Given the description of an element on the screen output the (x, y) to click on. 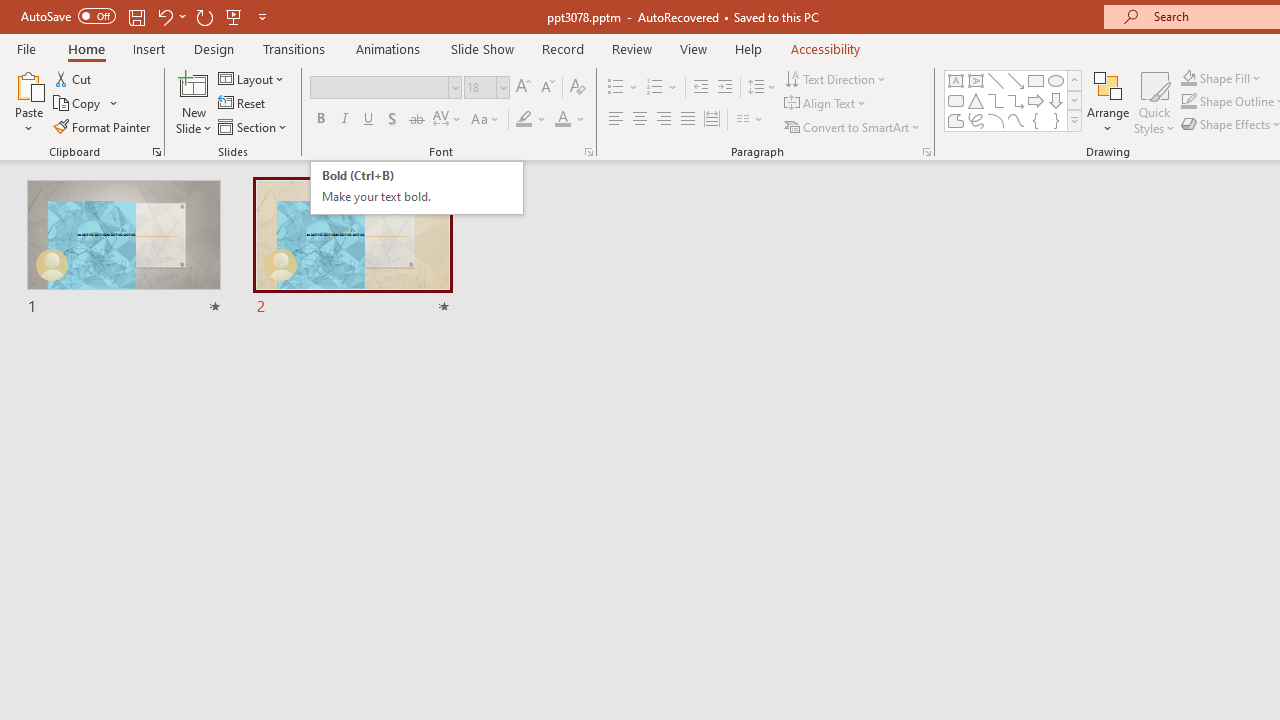
Rectangle: Rounded Corners (955, 100)
Justify (687, 119)
Oval (1055, 80)
Shape Outline Green, Accent 1 (1188, 101)
Office Clipboard... (156, 151)
Arrow: Down (1055, 100)
Paragraph... (926, 151)
Change Case (486, 119)
Strikethrough (416, 119)
